Given the description of an element on the screen output the (x, y) to click on. 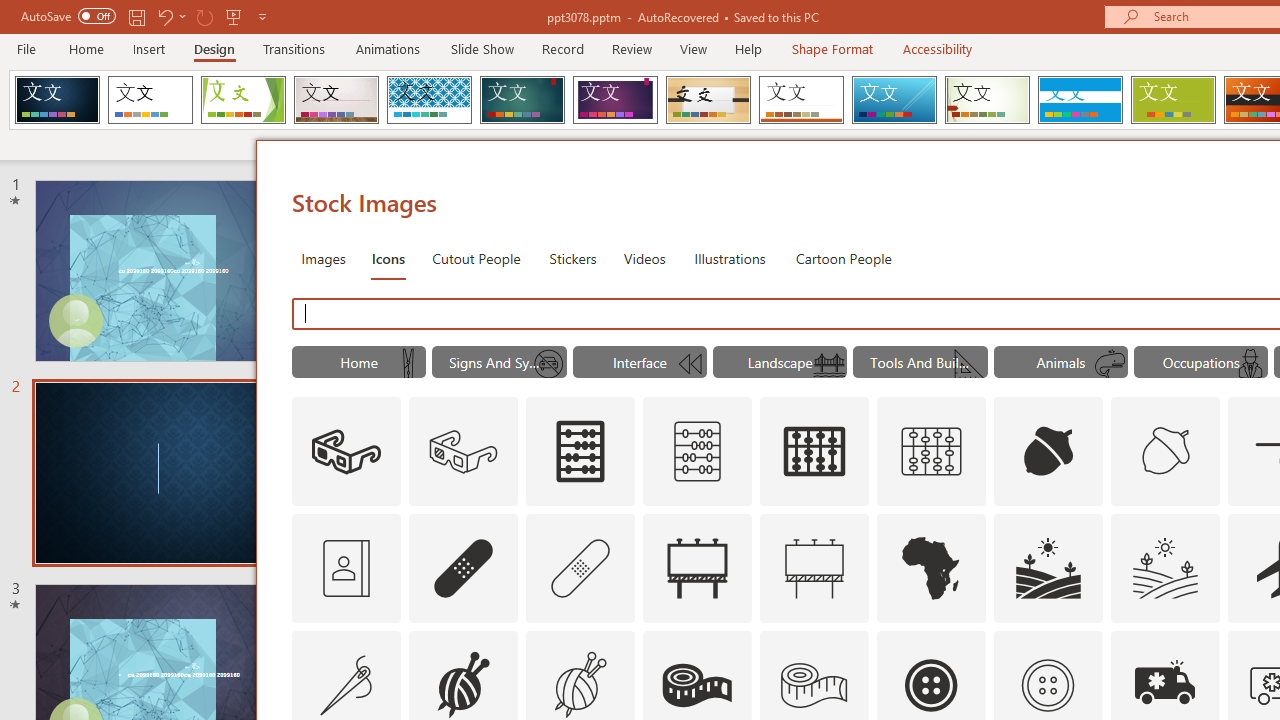
AutomationID: Icons_BridgeScene_M (829, 364)
AutomationID: Icons_3dGlasses (346, 452)
Slice (893, 100)
AutomationID: Icons_Acorn_M (1165, 452)
AutomationID: Icons_Africa (931, 568)
AutomationID: Icons_DetectiveMale_M (1249, 364)
AutomationID: Icons_3dGlasses_M (463, 452)
Integral (429, 100)
AutomationID: Icons_AddressBook_RTL_M (346, 568)
Organic (708, 100)
